Given the description of an element on the screen output the (x, y) to click on. 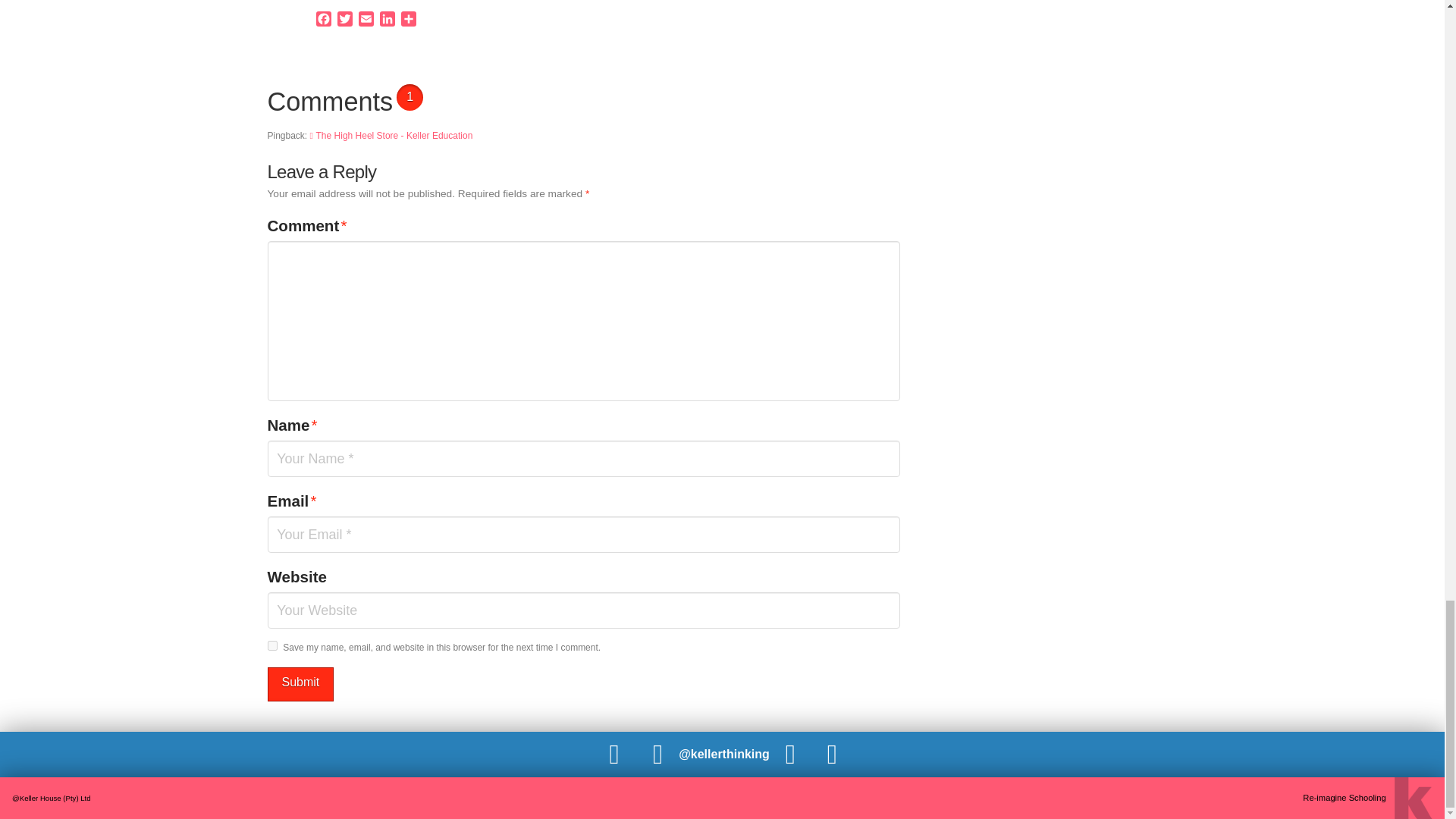
Email (365, 20)
yes (271, 645)
LinkedIn (386, 20)
Submit (299, 684)
Facebook (323, 20)
Email (365, 20)
Twitter (344, 20)
Submit (299, 684)
The High Heel Store - Keller Education (391, 135)
Twitter (344, 20)
Facebook (323, 20)
LinkedIn (386, 20)
